Given the description of an element on the screen output the (x, y) to click on. 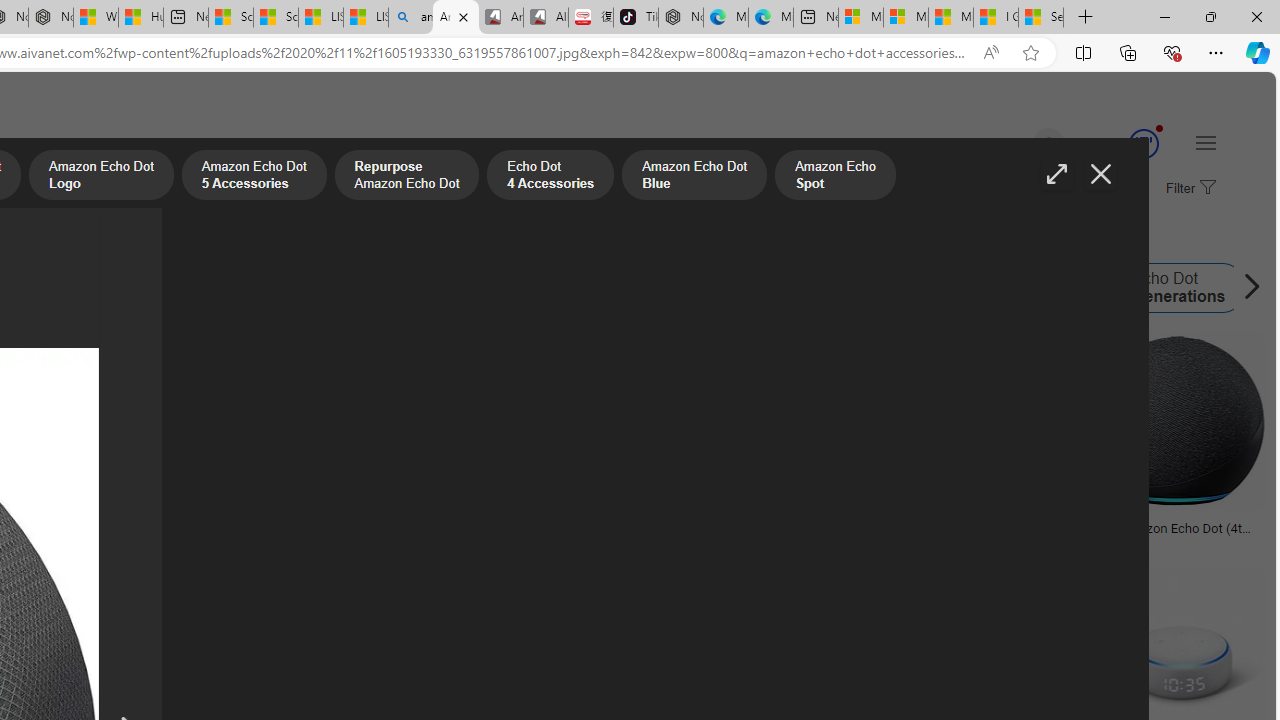
pixabay.com (732, 541)
